Given the description of an element on the screen output the (x, y) to click on. 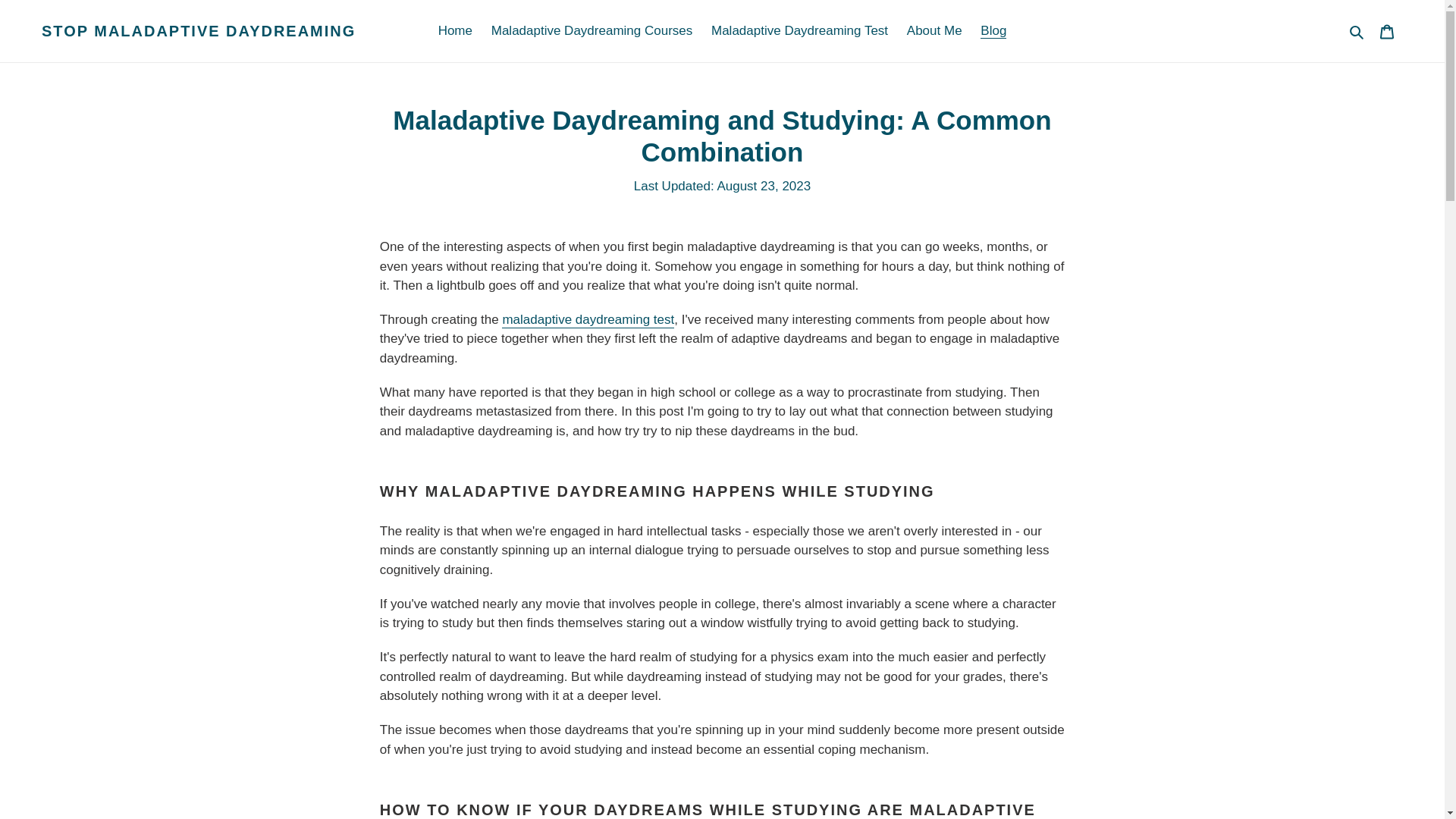
About Me (934, 30)
maladaptive daydreaming test (588, 320)
Search (1357, 30)
Cart (1387, 30)
maladaptive daydreaming test (588, 320)
STOP MALADAPTIVE DAYDREAMING (198, 31)
Maladaptive Daydreaming Courses (591, 30)
Blog (992, 30)
Home (455, 30)
Maladaptive Daydreaming Test (799, 30)
